Given the description of an element on the screen output the (x, y) to click on. 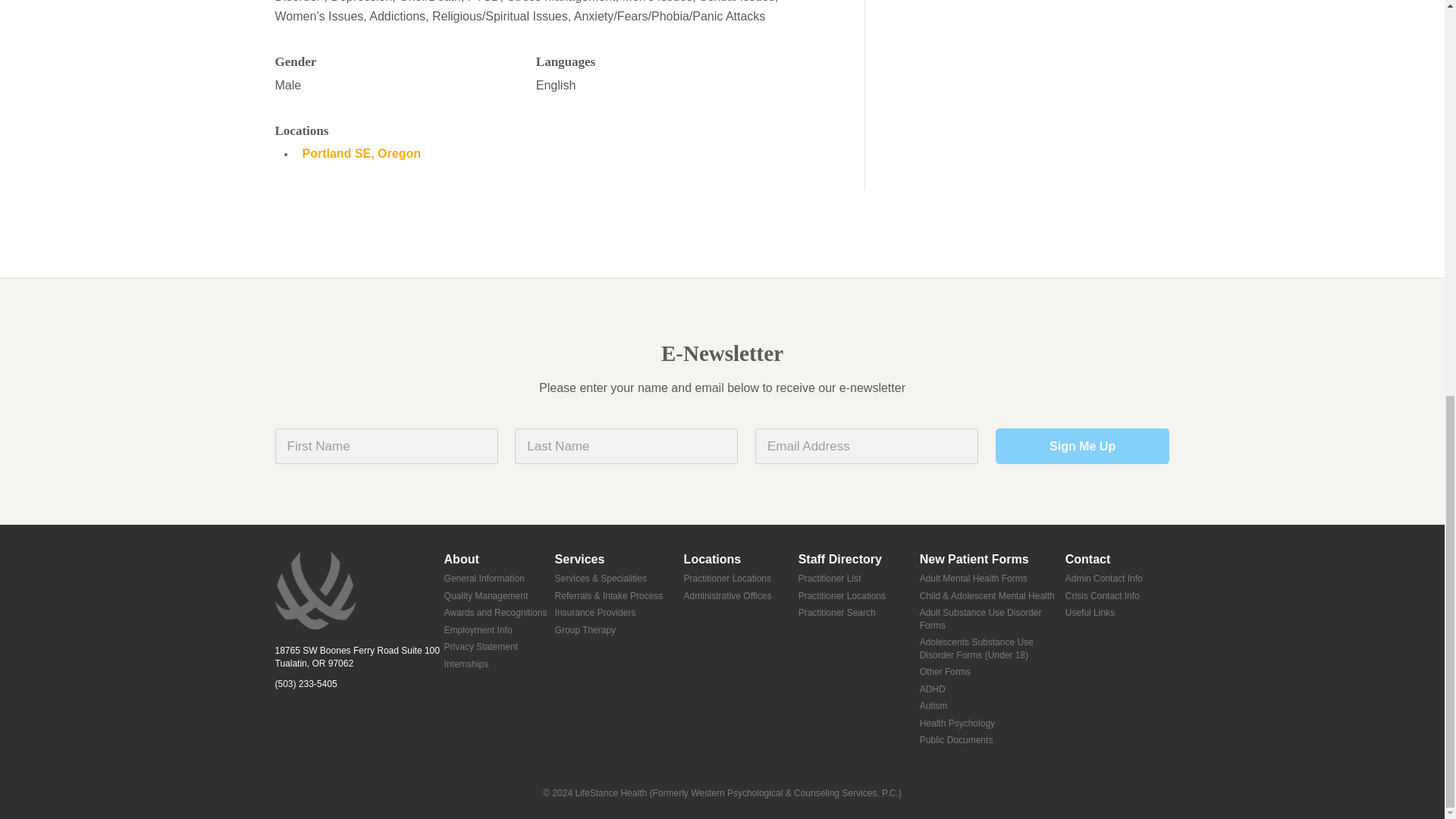
About (499, 560)
Quality Management (499, 596)
Practitioner Locations (858, 596)
Practitioner Search (858, 612)
Staff Directory (858, 560)
Health Psychology (992, 723)
Practitioner Locations (740, 579)
Portland SE, Oregon (360, 153)
General Information (499, 579)
ADHD (992, 689)
